Given the description of an element on the screen output the (x, y) to click on. 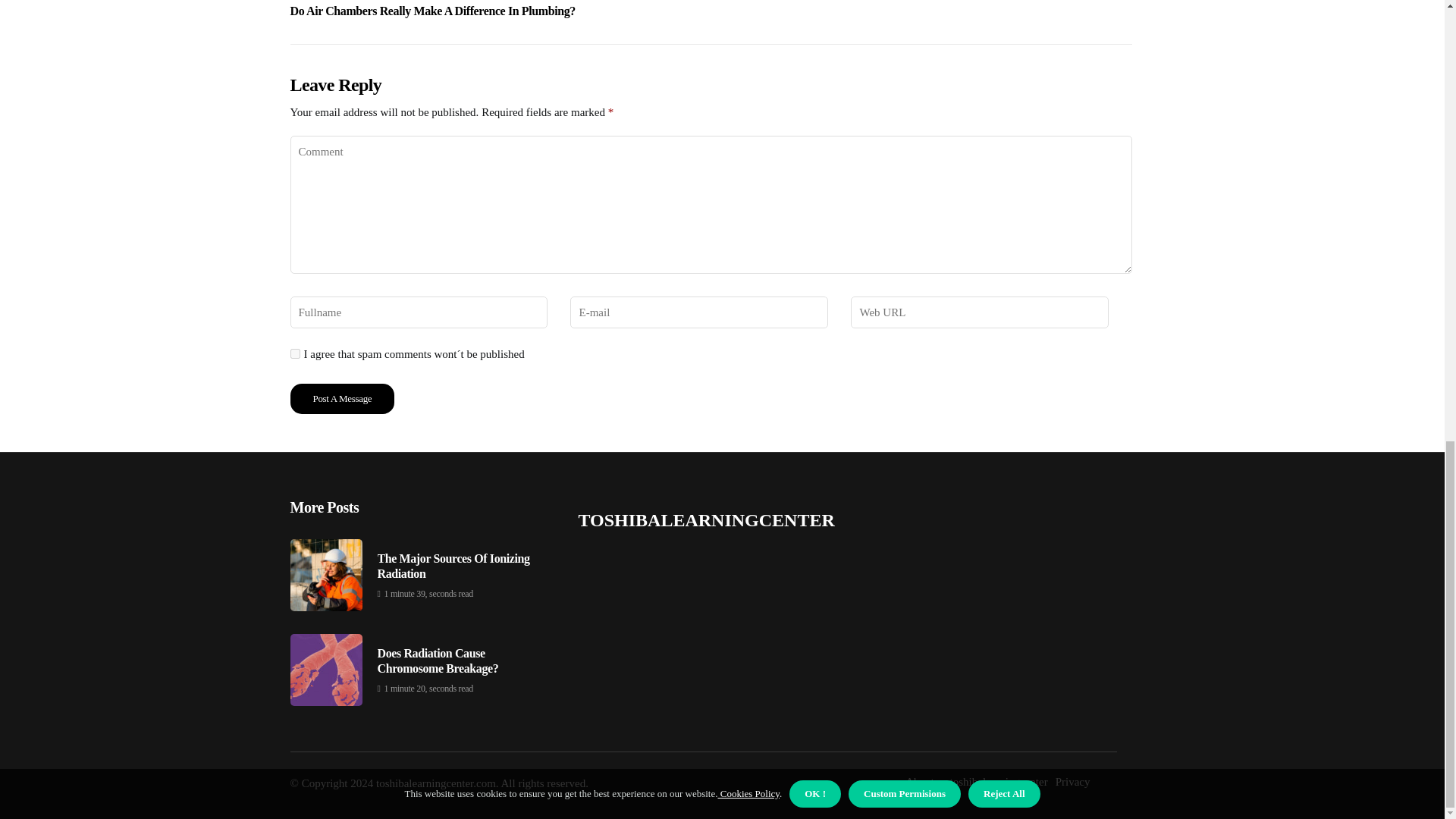
Post a Message (341, 399)
Post a Message (341, 399)
yes (294, 353)
